Given the description of an element on the screen output the (x, y) to click on. 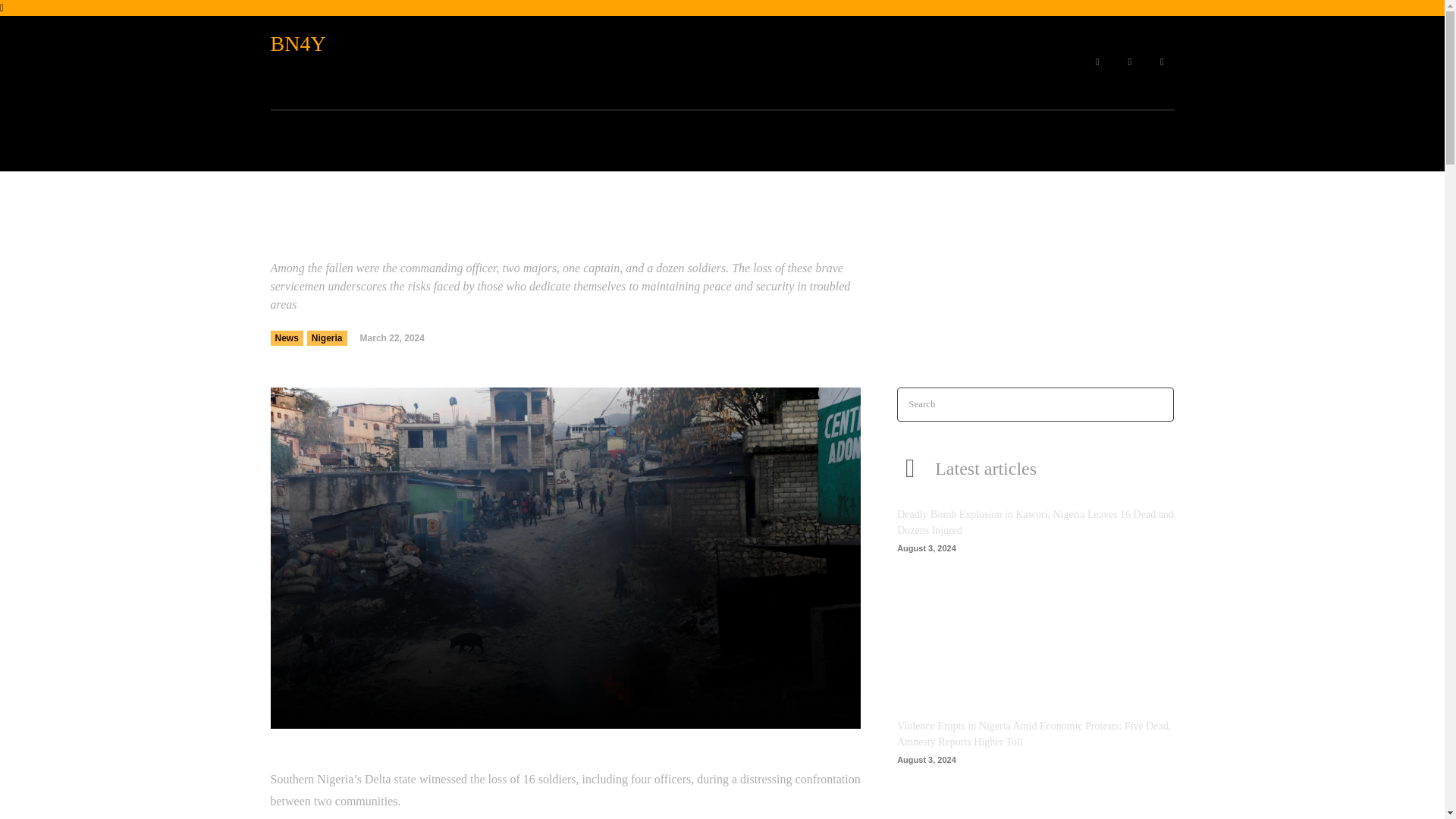
Instagram (1130, 62)
Twitter (1162, 62)
Nigeria (327, 337)
Facebook (1096, 62)
News (285, 337)
BN4Y (345, 44)
